Given the description of an element on the screen output the (x, y) to click on. 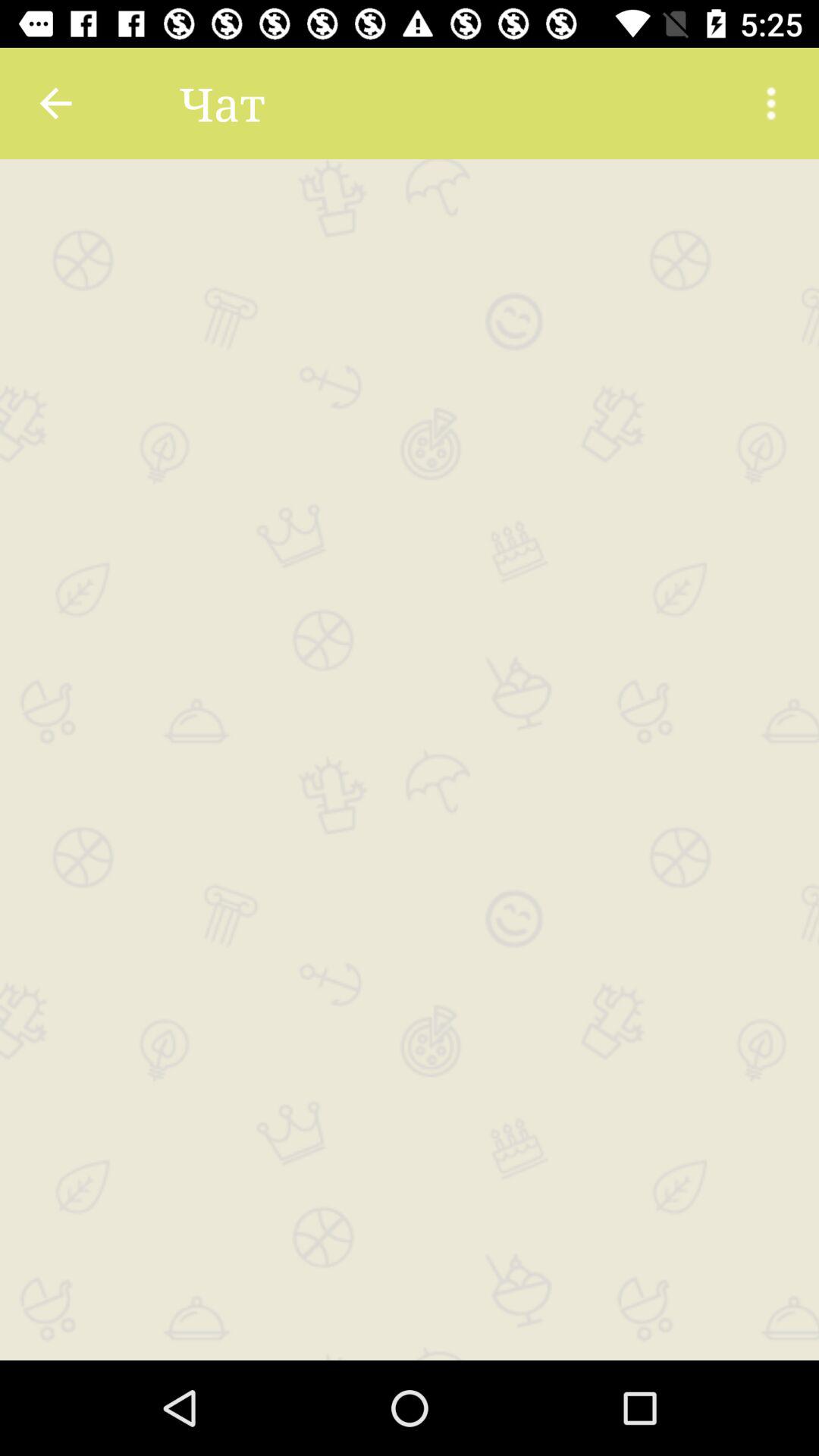
open item at the top right corner (771, 103)
